Given the description of an element on the screen output the (x, y) to click on. 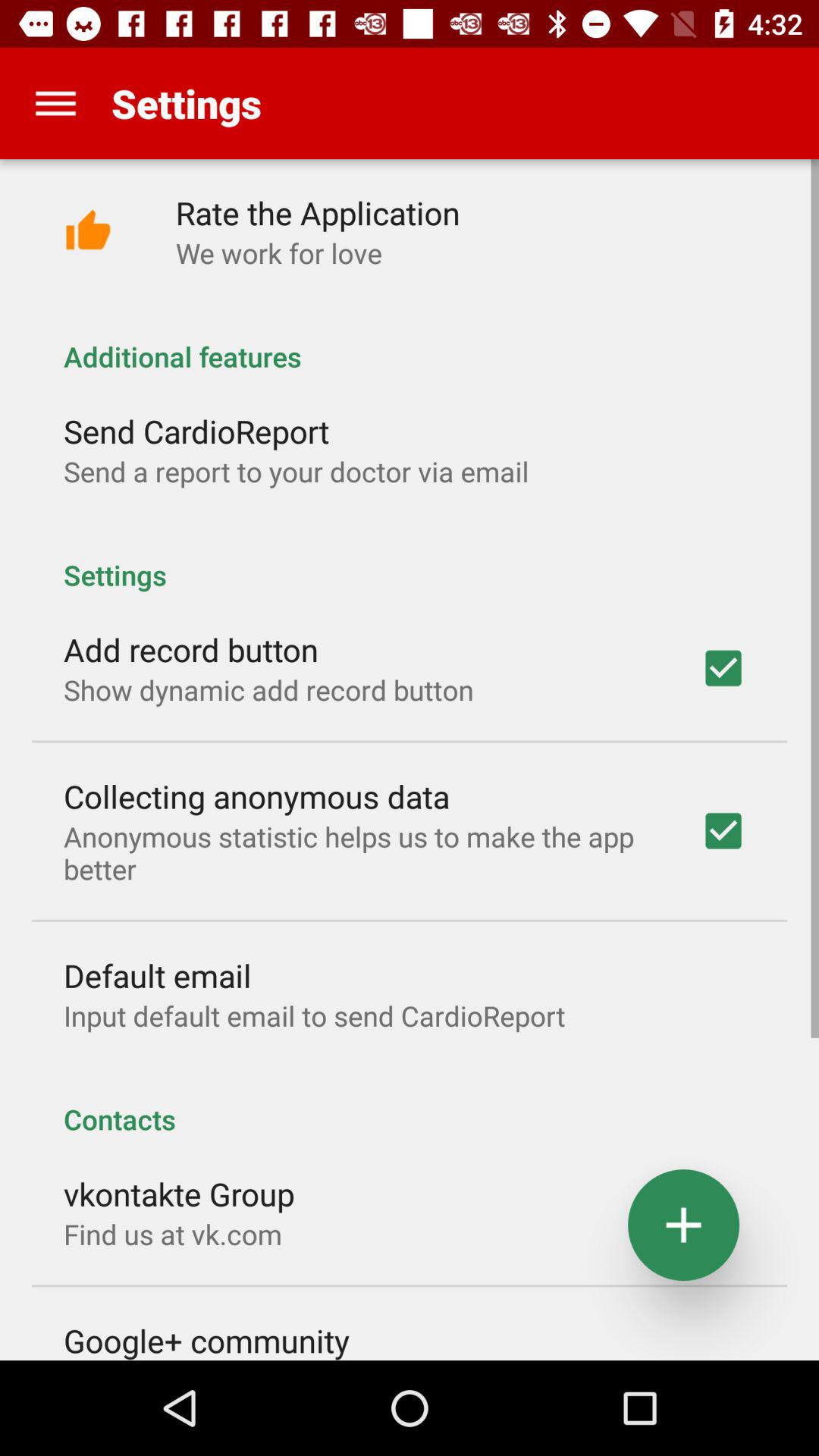
flip to the find us at app (172, 1233)
